Given the description of an element on the screen output the (x, y) to click on. 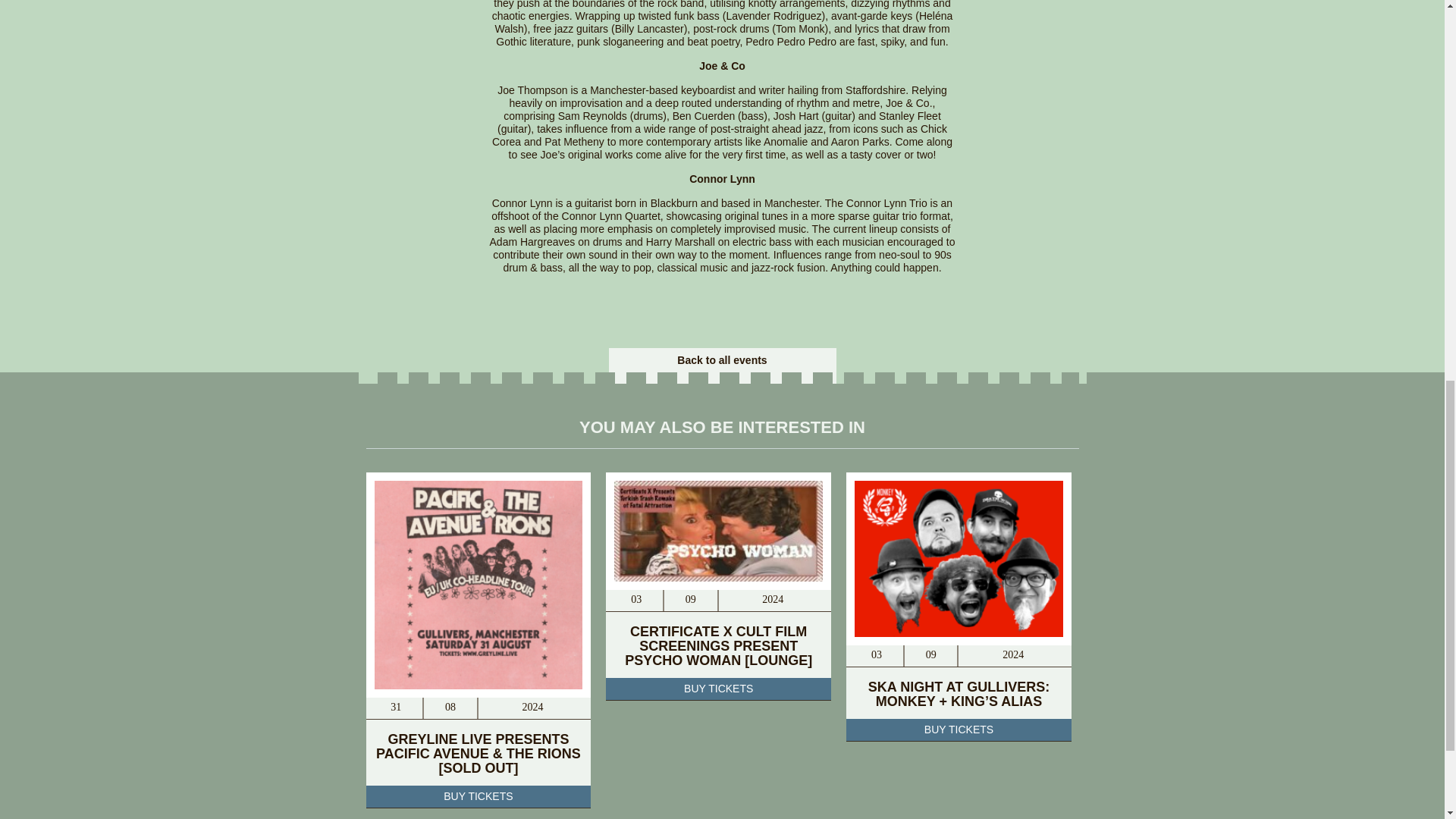
Back to all events (722, 359)
BUY TICKETS (958, 730)
BUY TICKETS (718, 689)
BUY TICKETS (478, 796)
